Given the description of an element on the screen output the (x, y) to click on. 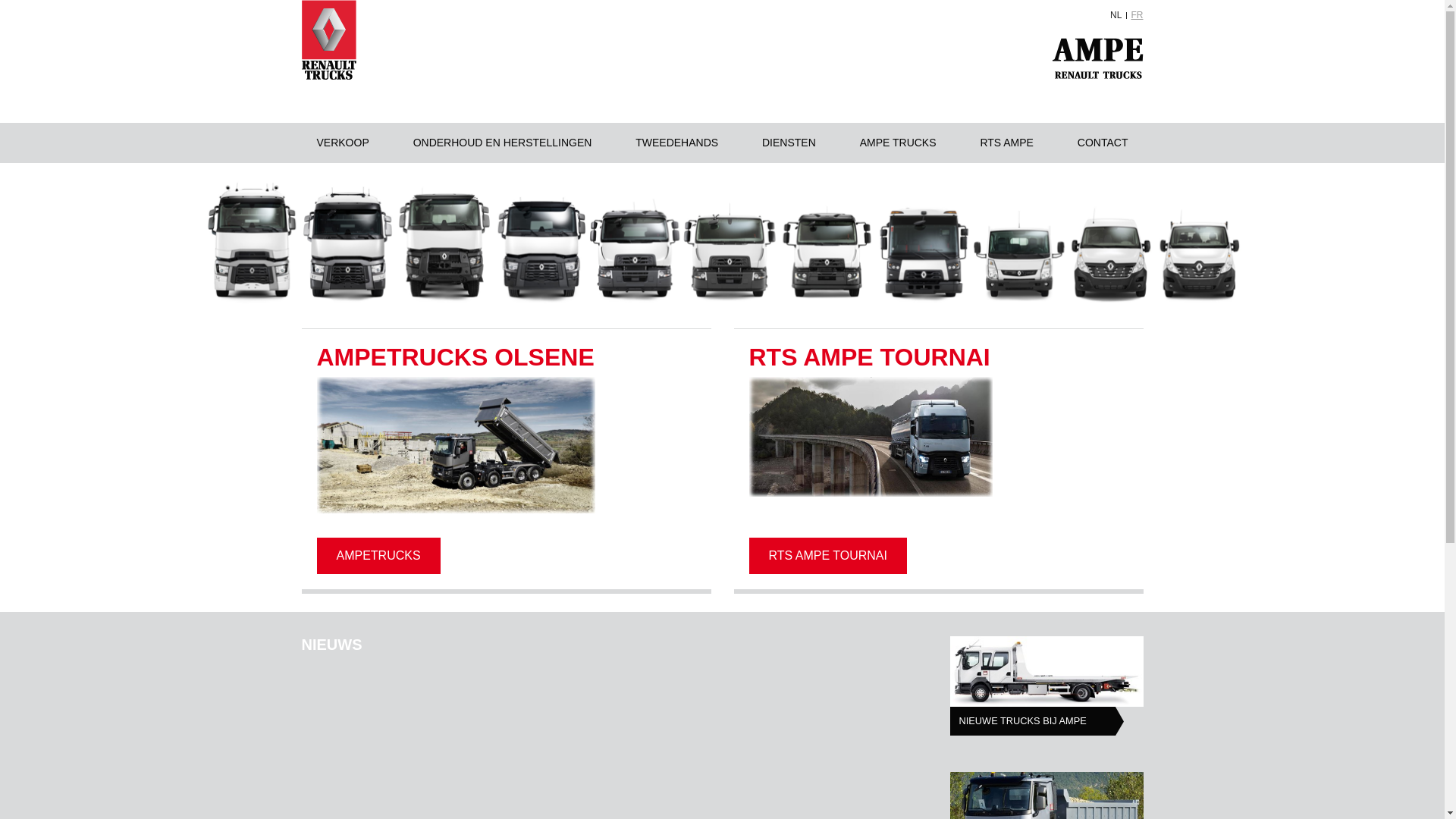
CONTACT Element type: text (1102, 142)
RTS AMPE TOURNAI Element type: text (827, 555)
ONDERHOUD EN HERSTELLINGEN Element type: text (502, 142)
VERKOOP Element type: text (342, 142)
RTS AMPE Element type: text (1006, 142)
AMPETRUCKS Element type: text (378, 555)
Overslaan en naar de inhoud gaan Element type: text (0, 0)
FR Element type: text (1137, 14)
Home Element type: hover (328, 40)
NL Element type: text (1115, 14)
NIEUWE TRUCKS BIJ AMPE Element type: text (1036, 720)
AMPE TRUCKS Element type: text (897, 142)
TWEEDEHANDS Element type: text (676, 142)
DIENSTEN Element type: text (788, 142)
